Given the description of an element on the screen output the (x, y) to click on. 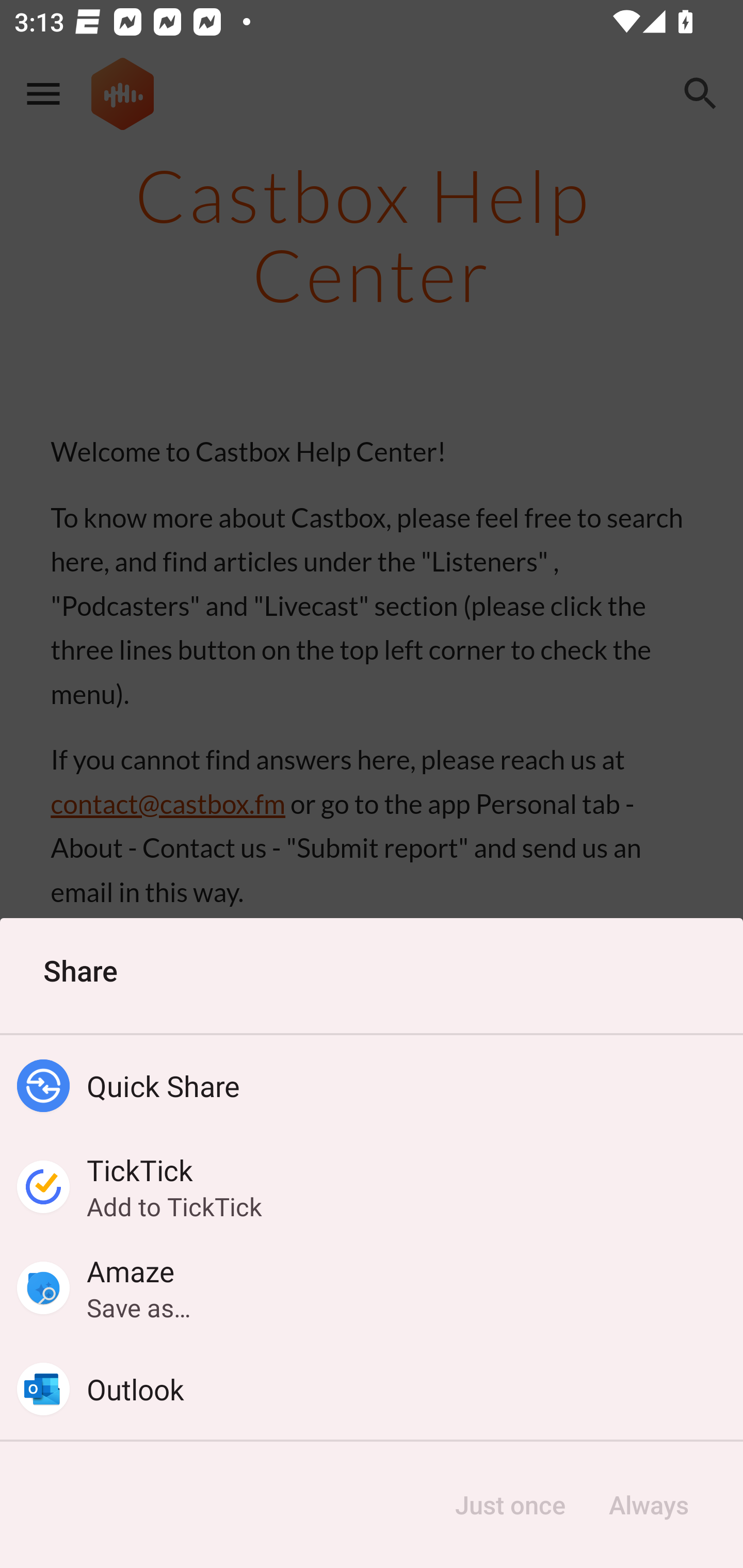
Quick Share (371, 1085)
TickTick Add to TickTick (371, 1186)
Amaze Save as… (371, 1288)
Outlook (371, 1389)
Just once (509, 1504)
Always (648, 1504)
